Given the description of an element on the screen output the (x, y) to click on. 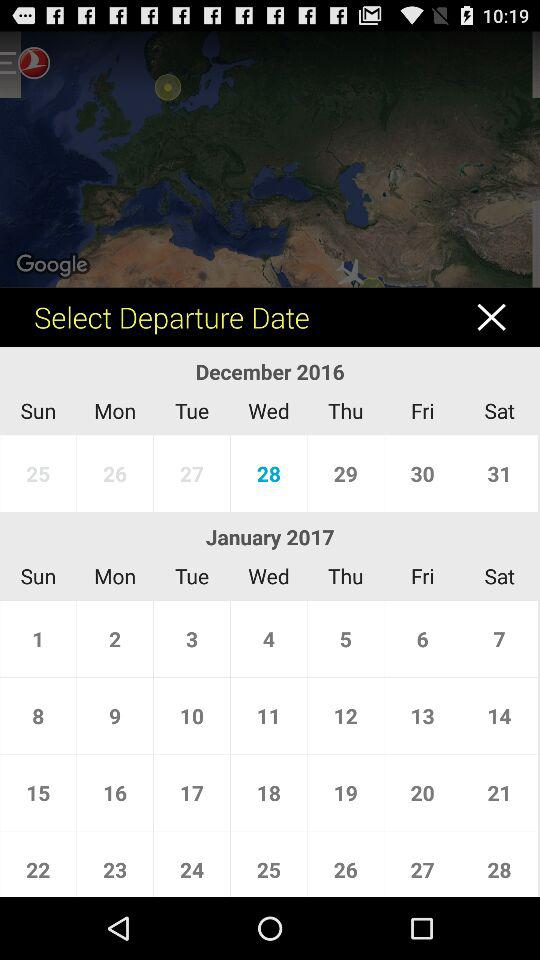
cancel button (501, 316)
